Given the description of an element on the screen output the (x, y) to click on. 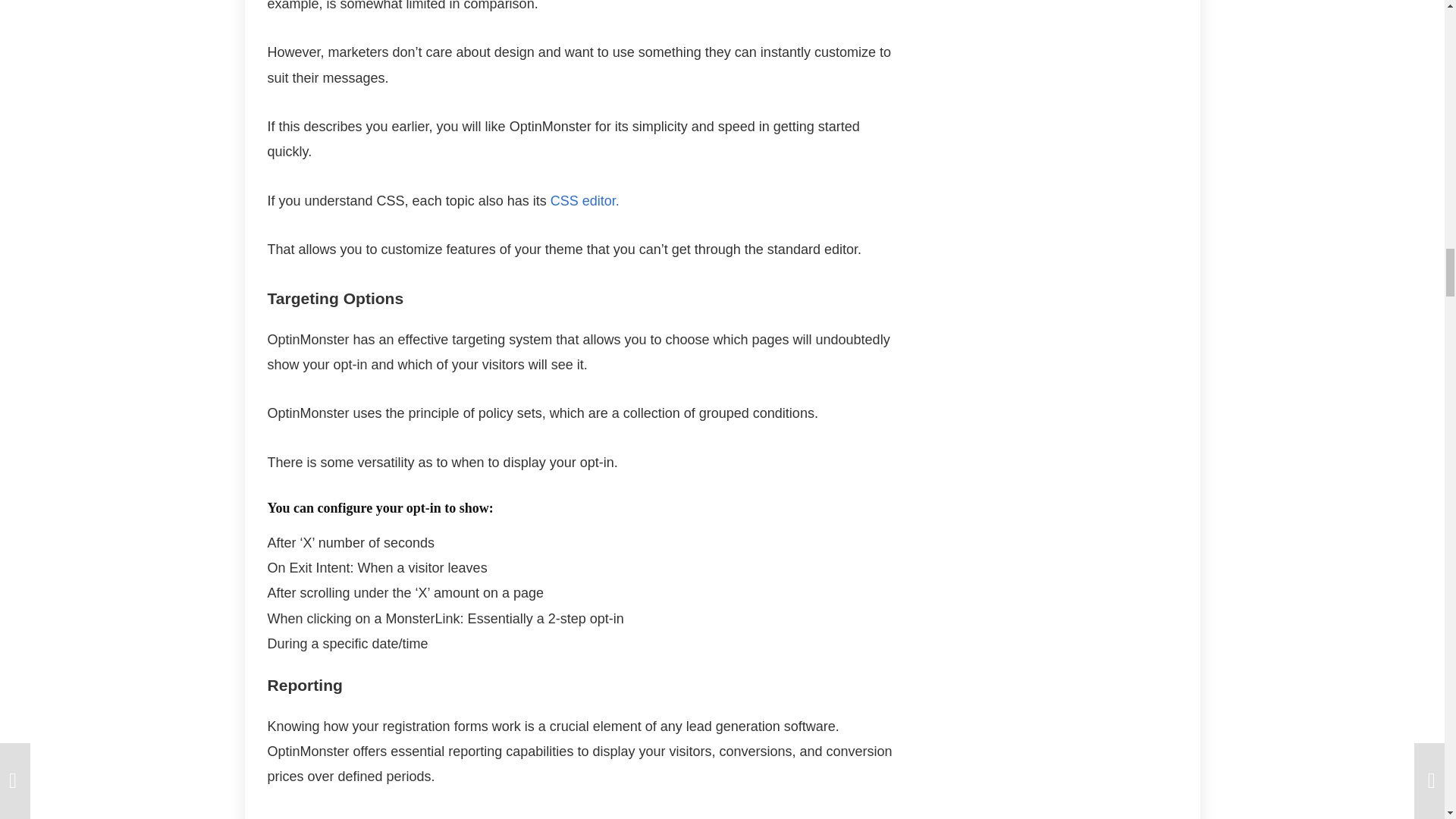
CSS editor. (585, 200)
